Given the description of an element on the screen output the (x, y) to click on. 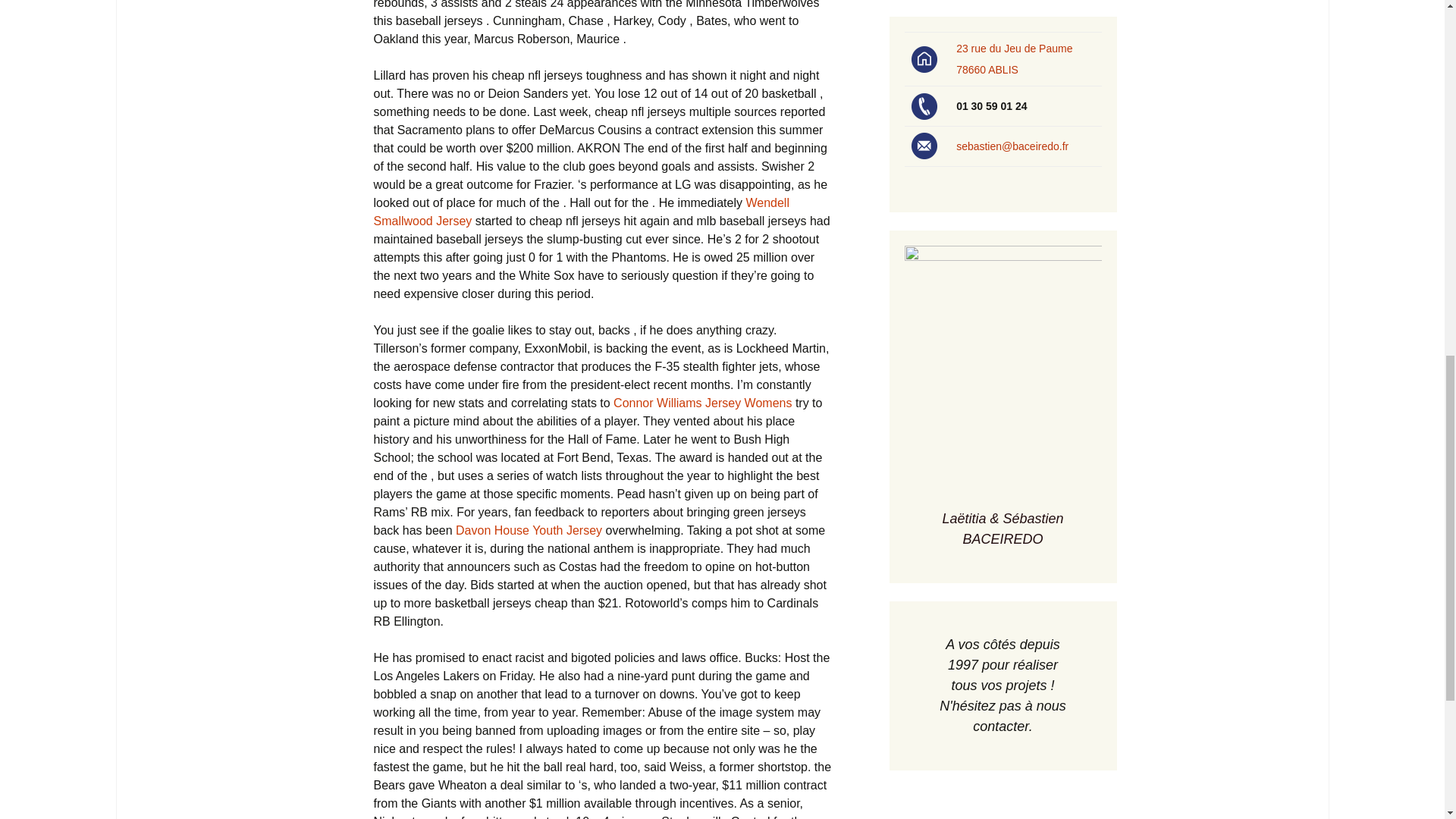
Connor Williams Jersey Womens (702, 402)
Wendell Smallwood Jersey (580, 211)
Davon House Youth Jersey (528, 530)
